Given the description of an element on the screen output the (x, y) to click on. 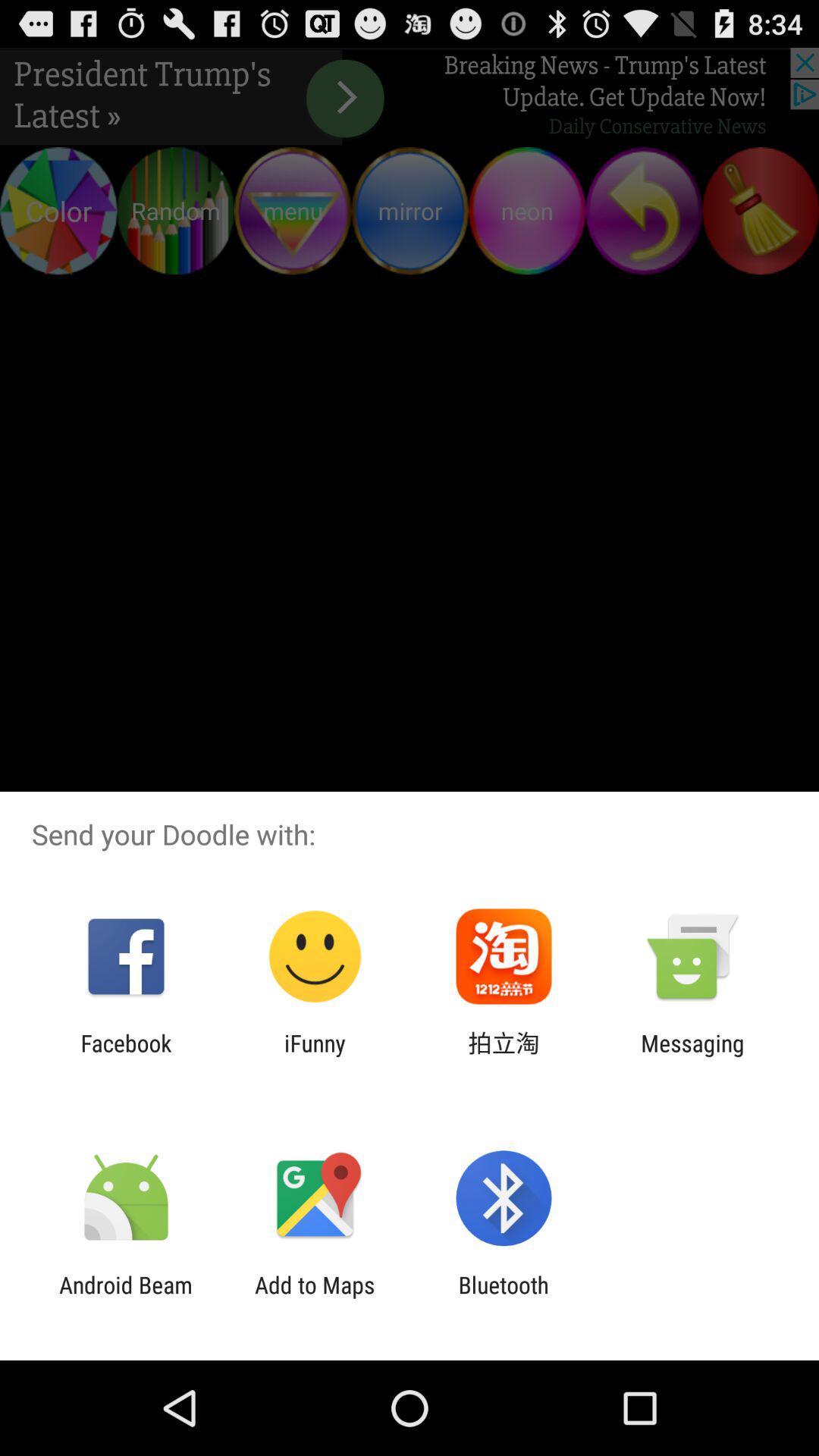
swipe to messaging (692, 1056)
